Given the description of an element on the screen output the (x, y) to click on. 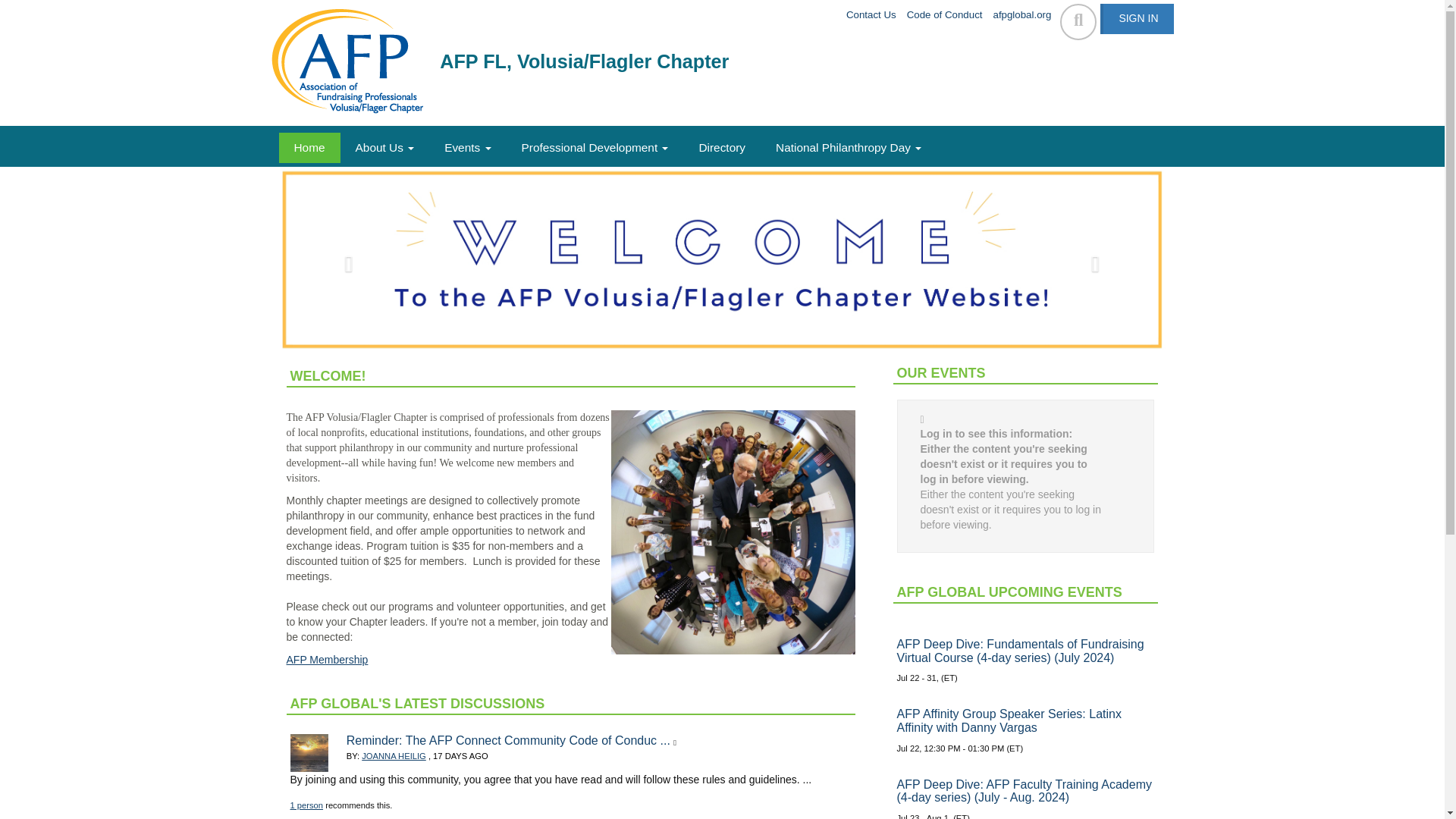
National Philanthropy Day (848, 147)
Home (309, 147)
About Us (384, 147)
AFP Membership  (327, 659)
How to get in contact with us (872, 15)
Joanna Heilig (308, 752)
Events (467, 147)
SIGN IN (1136, 19)
Directory (721, 147)
Read the code of conduct for posting to the lists (946, 15)
Reminder: The AFP Connect Community Code of Conduct (507, 739)
Code of Conduct (946, 15)
afpglobal.org (1024, 15)
Reminder: The AFP Connect Community Code of Conduc ... (507, 739)
